Given the description of an element on the screen output the (x, y) to click on. 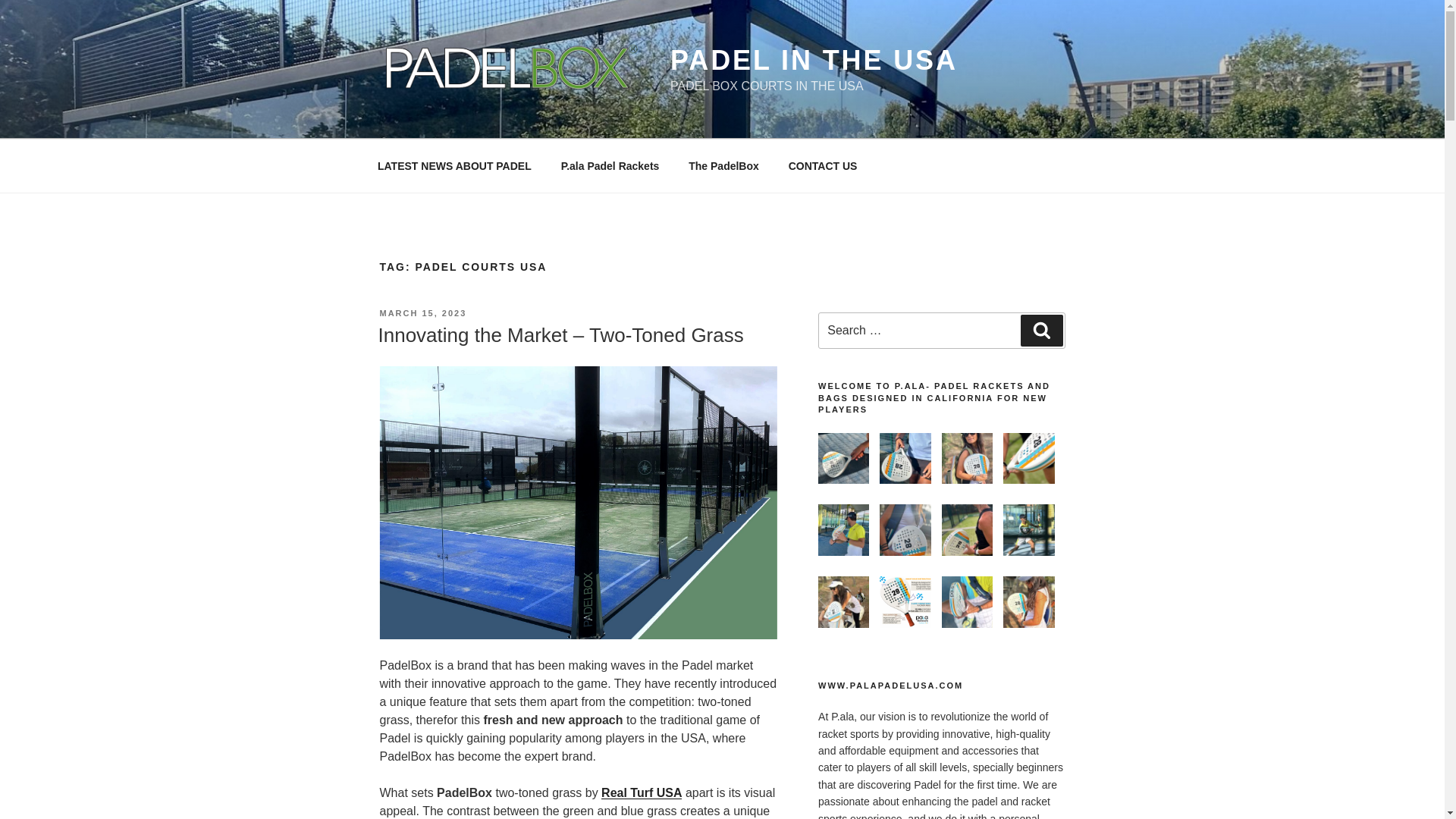
MARCH 15, 2023 (421, 312)
PADEL IN THE USA (813, 60)
Search (1041, 330)
Visit our on-line Padel Shop (609, 165)
LATEST NEWS ABOUT PADEL (454, 165)
Real Turf USA (641, 792)
Real Turf USA (641, 792)
The PadelBox (724, 165)
CONTACT US (822, 165)
P.ala Padel Rackets (609, 165)
